Given the description of an element on the screen output the (x, y) to click on. 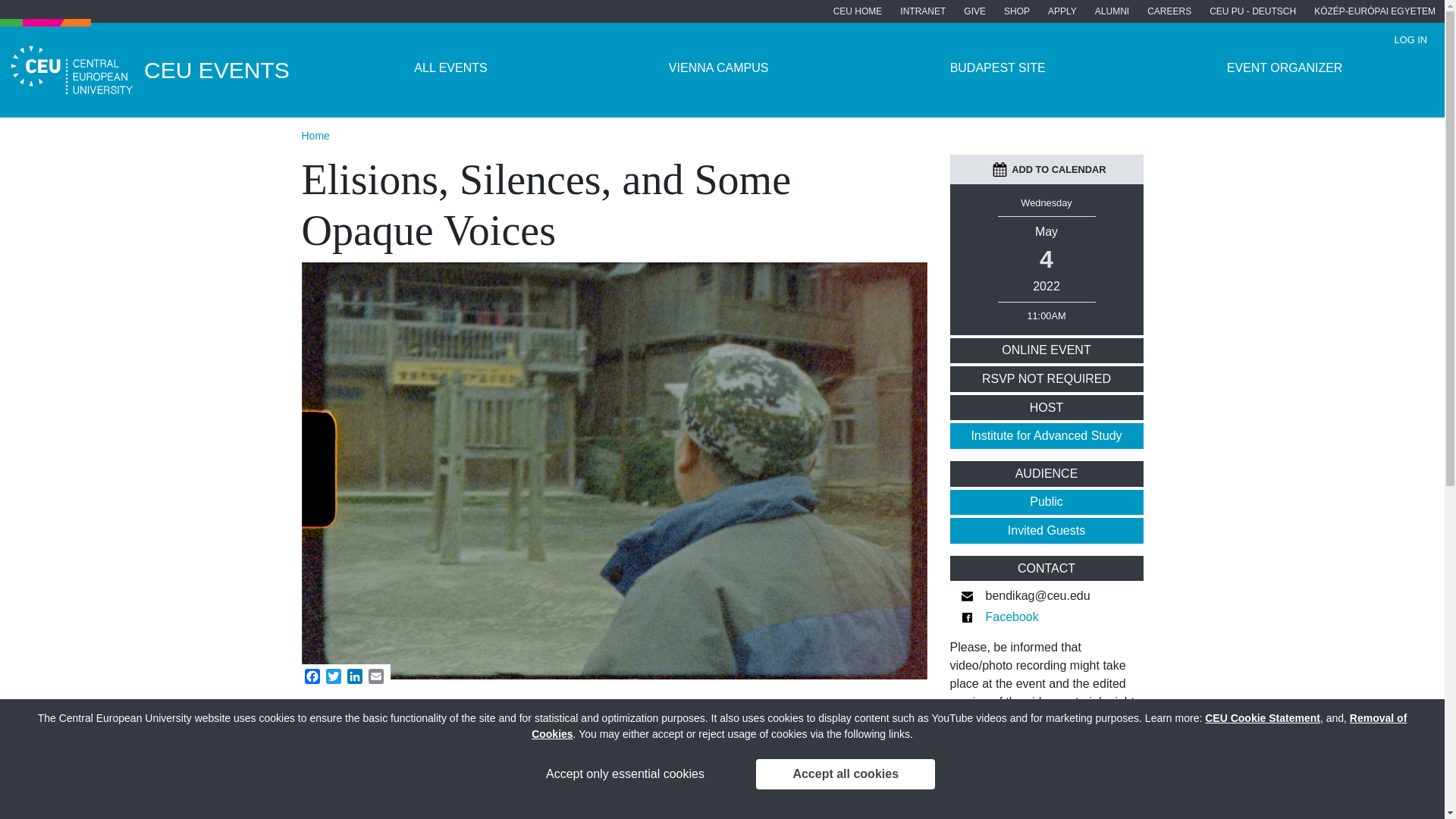
Home (315, 135)
here (999, 774)
Public (1045, 502)
Twitter (333, 676)
ADD TO CALENDAR (1048, 169)
LOG IN (1410, 39)
Email (376, 676)
Invited Guests (1045, 530)
CAREERS (1168, 11)
LinkedIn (354, 676)
